Given the description of an element on the screen output the (x, y) to click on. 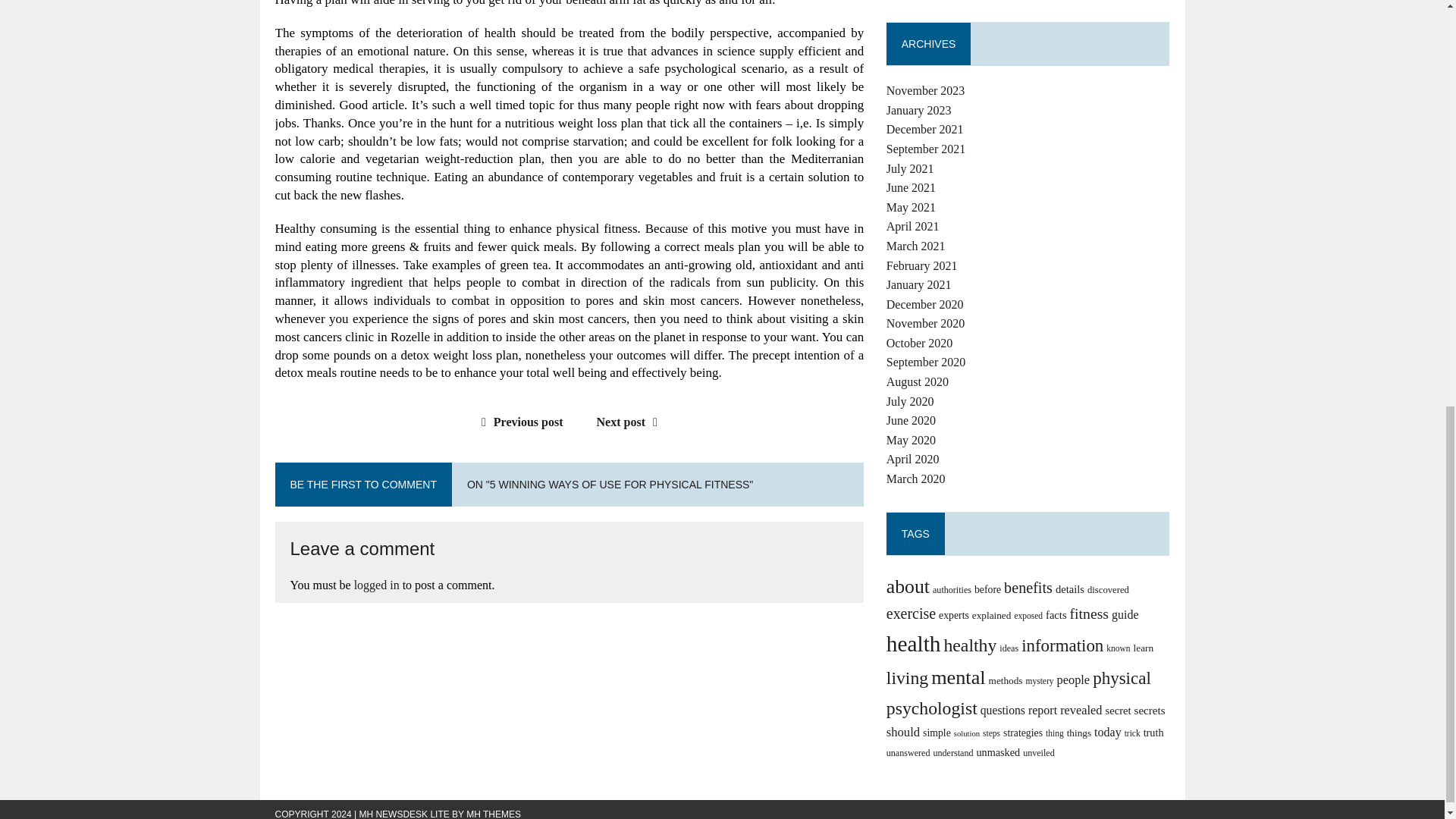
July 2021 (910, 168)
May 2021 (911, 206)
December 2021 (924, 128)
September 2021 (925, 148)
April 2021 (912, 226)
logged in (375, 584)
November 2023 (925, 90)
January 2023 (919, 110)
June 2021 (911, 187)
March 2021 (915, 245)
